Given the description of an element on the screen output the (x, y) to click on. 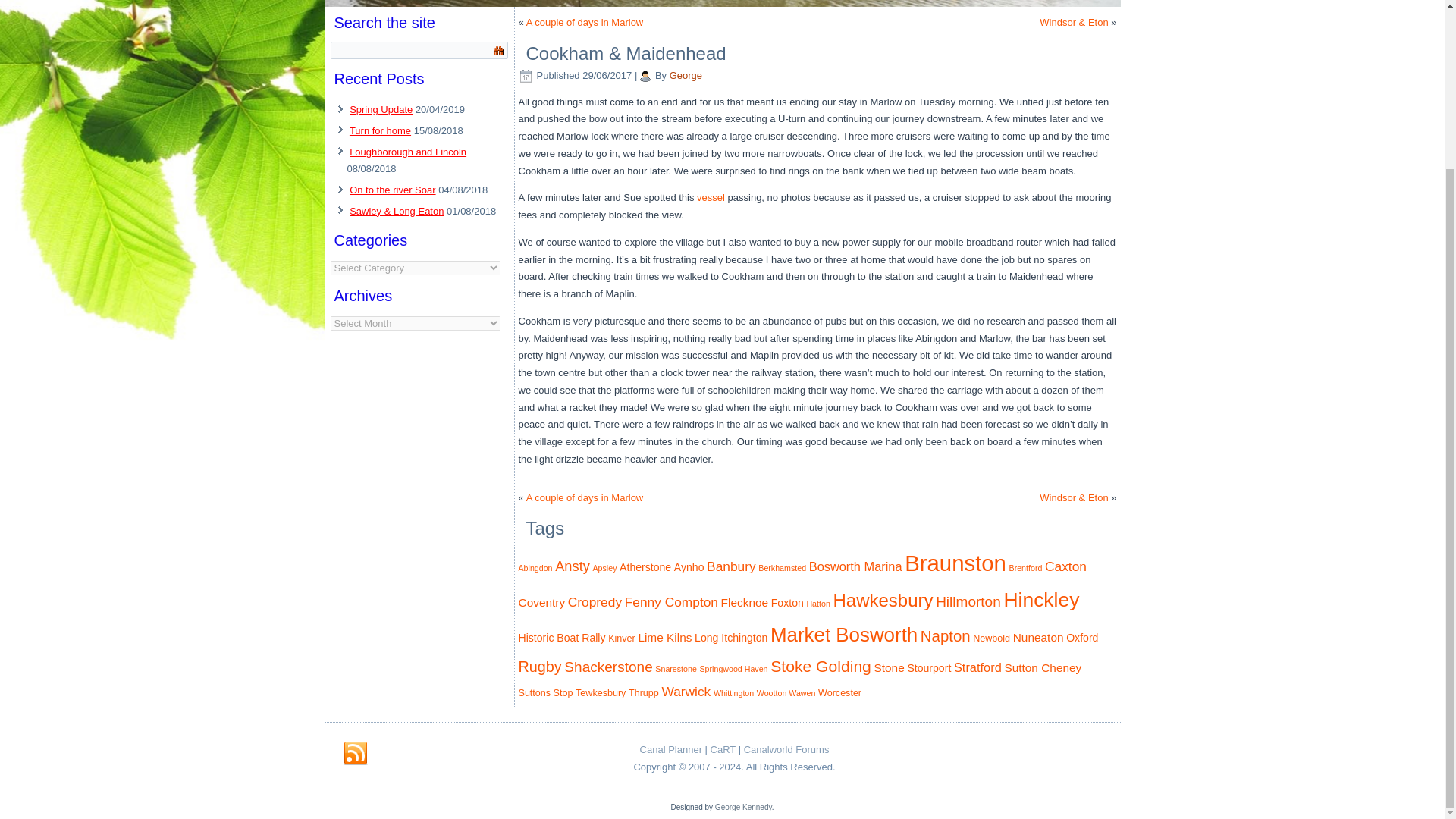
vessel (711, 197)
Long Itchington (730, 637)
Bosworth Marina (855, 566)
Braunston (955, 562)
George (685, 75)
Brentford (1025, 567)
Fenny Compton (670, 601)
Spring Update (380, 109)
View all posts by George (685, 75)
Aynho (689, 567)
Caxton (1065, 566)
A couple of days in Marlow (584, 21)
A couple of days in Marlow (584, 497)
10:10 pm (606, 75)
Lime Kilns (664, 636)
